Given the description of an element on the screen output the (x, y) to click on. 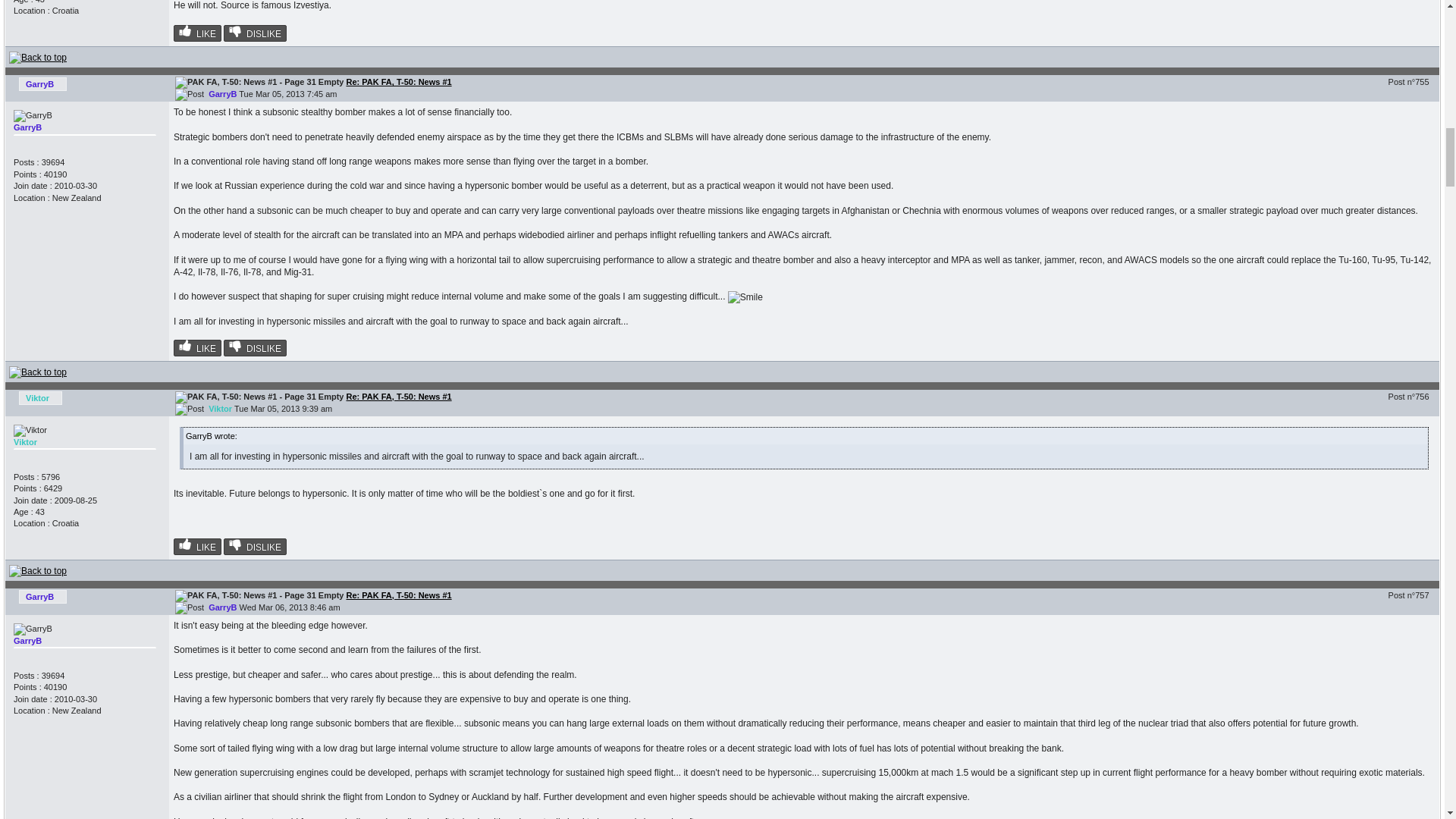
Post (188, 607)
Post (188, 94)
Post (188, 409)
